Given the description of an element on the screen output the (x, y) to click on. 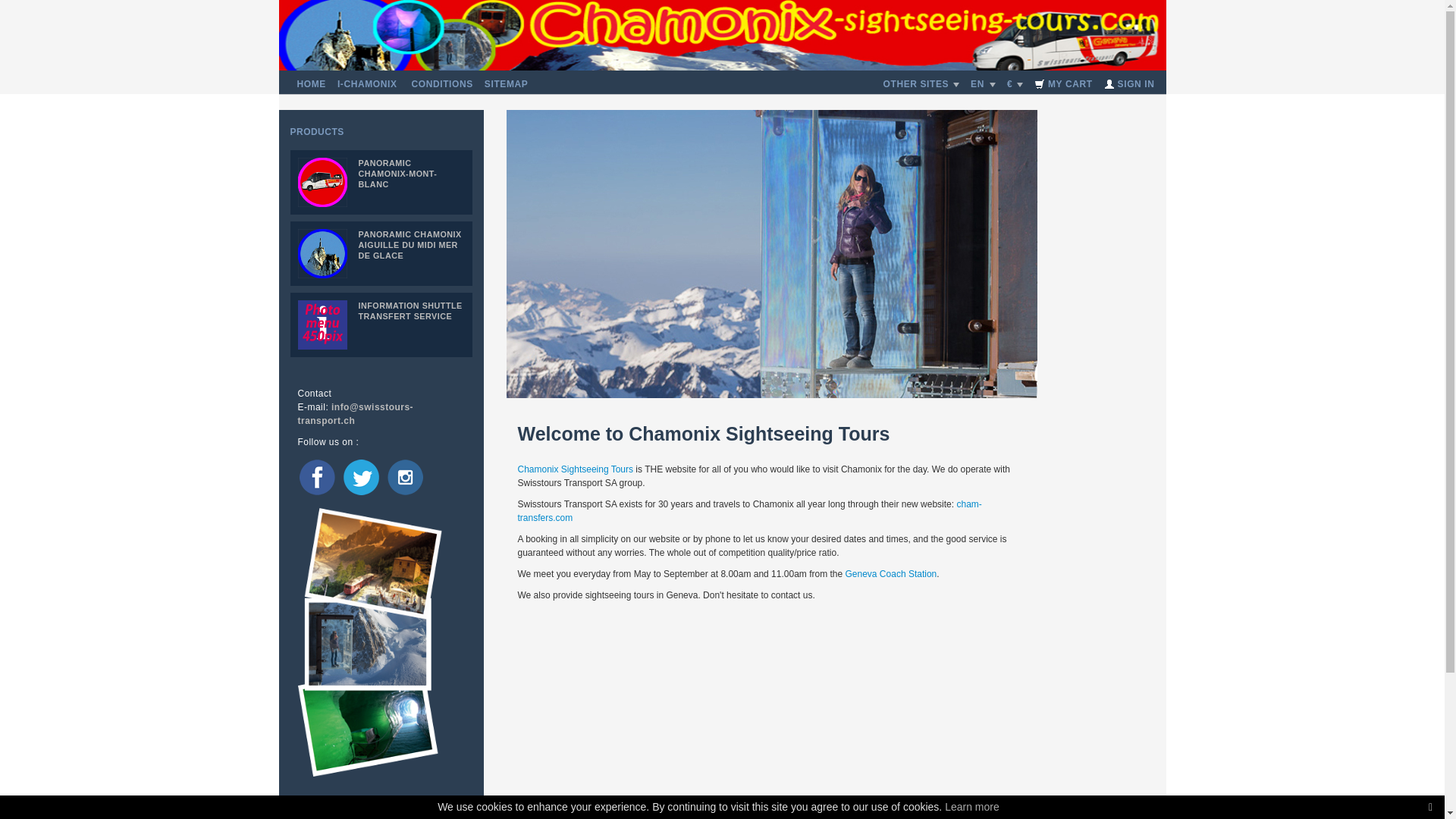
INFORMATION SHUTTLE TRANSFERT SERVICE Element type: text (380, 324)
EN Element type: text (982, 83)
CONDITIONS Element type: text (442, 83)
MY CART Element type: text (1063, 83)
Geneva Coach Station Element type: text (890, 573)
HOME Element type: text (311, 83)
Learn more Element type: text (971, 806)
info@swisstours-transport.ch Element type: text (355, 413)
Chamonix Sightseeing Tours Element type: text (575, 469)
I-CHAMONIX Element type: text (367, 83)
PANORAMIC CHAMONIX AIGUILLE DU MIDI MER DE GLACE Element type: text (380, 253)
cham-transfers.com Element type: text (749, 510)
OTHER SITES Element type: text (921, 83)
SIGN IN Element type: text (1129, 83)
PANORAMIC CHAMONIX-MONT-BLANC Element type: text (380, 182)
SITEMAP Element type: text (506, 83)
